Given the description of an element on the screen output the (x, y) to click on. 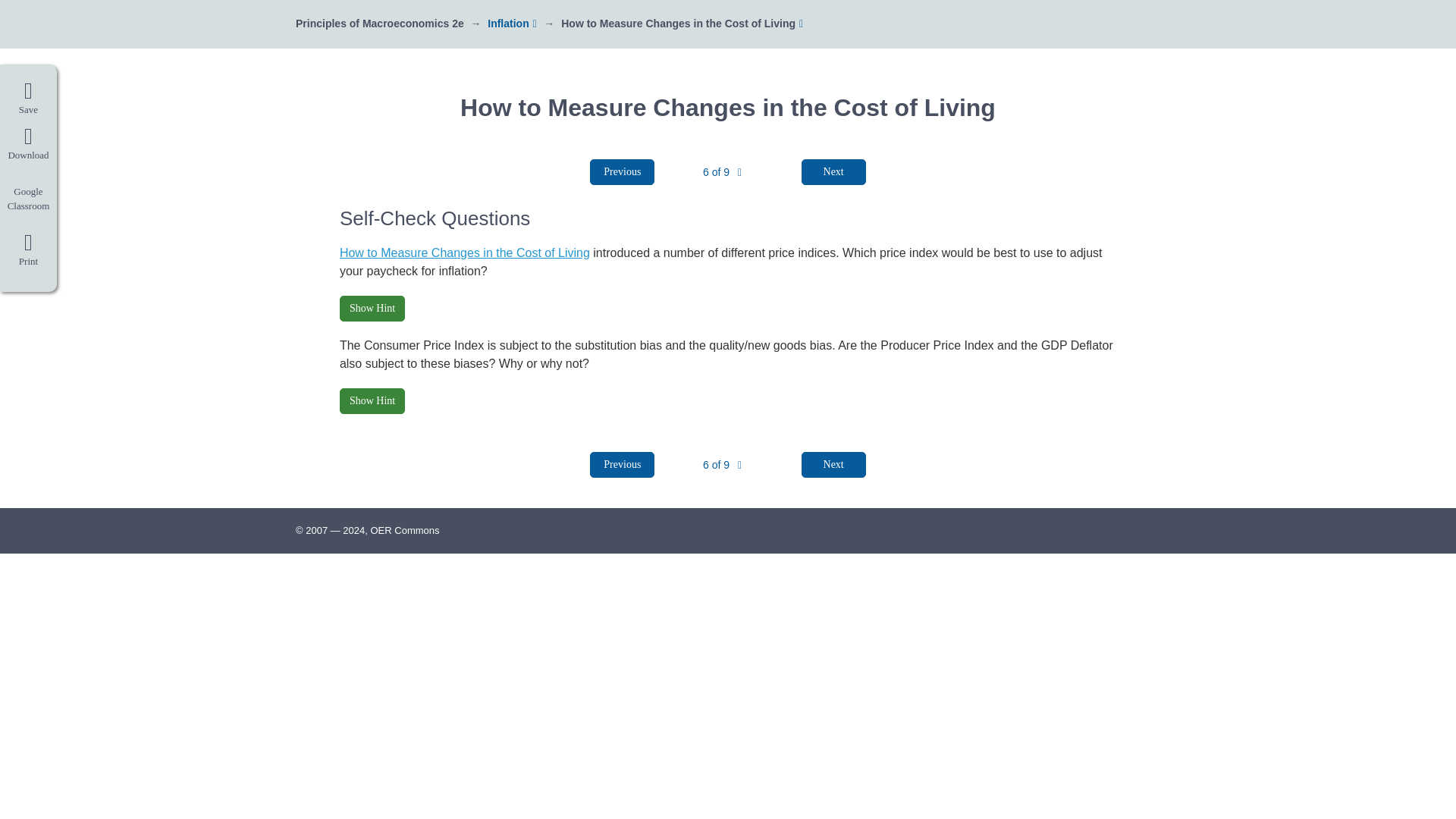
Download (28, 144)
Next (834, 171)
Download (28, 144)
Previous (621, 464)
Previous (621, 171)
Save (28, 98)
Inflation (507, 23)
